Given the description of an element on the screen output the (x, y) to click on. 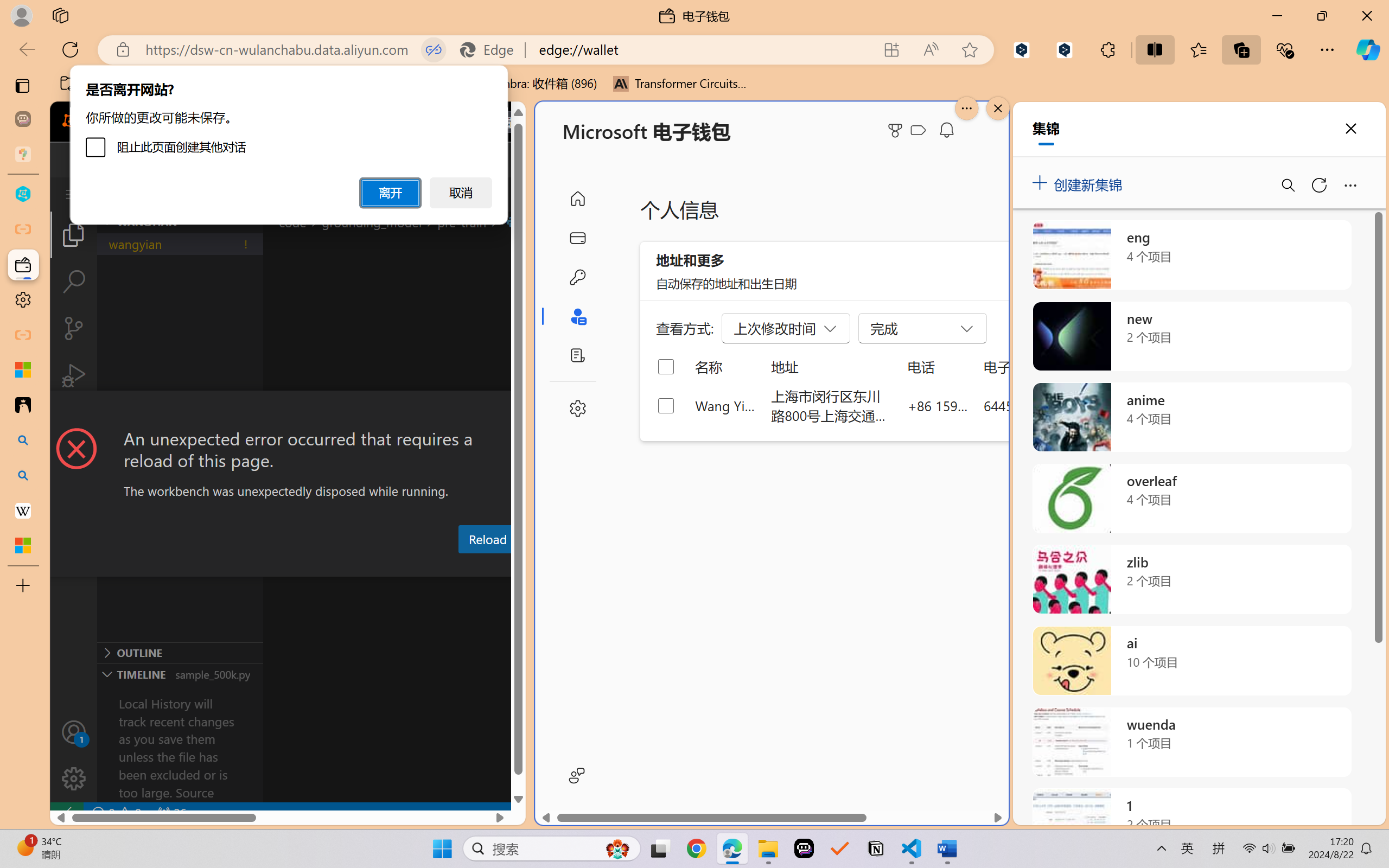
Microsoft Cashback (920, 130)
Class: ___1lmltc5 f1agt3bx f12qytpq (917, 130)
Google Chrome (696, 848)
